Given the description of an element on the screen output the (x, y) to click on. 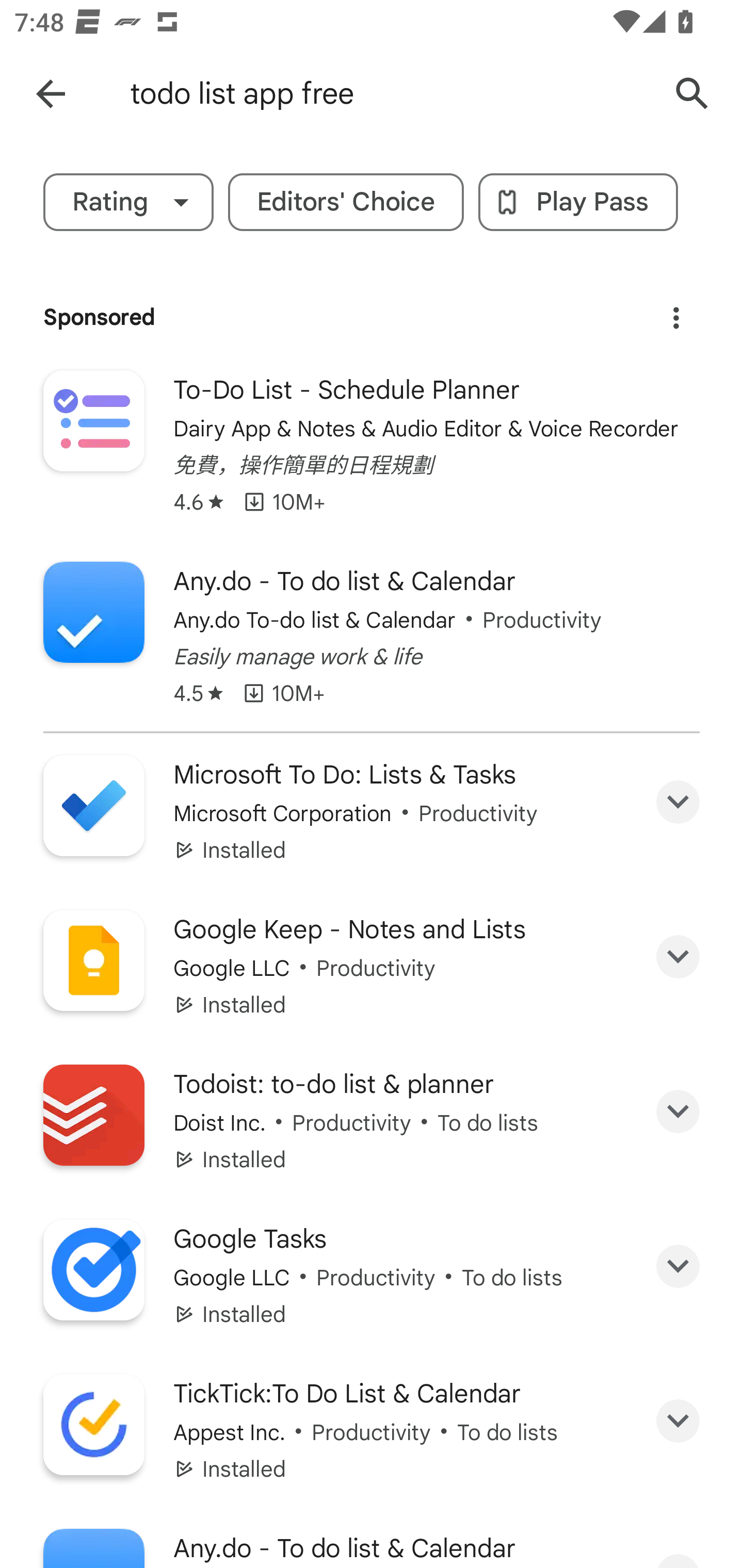
todo list app free (389, 93)
Navigate up (50, 93)
Search Google Play (692, 93)
Rating - double tap to change the filter (128, 202)
Editors' Choice - double tap to toggle the filter (345, 202)
Play Pass - double tap to toggle the filter (577, 202)
About this ad (676, 311)
Expand content for Microsoft To Do: Lists & Tasks (677, 801)
Expand content for Google Keep - Notes and Lists (677, 957)
Expand content for Todoist: to-do list & planner (677, 1111)
Expand content for Google Tasks (677, 1266)
Expand content for TickTick:To Do List & Calendar (677, 1421)
